Given the description of an element on the screen output the (x, y) to click on. 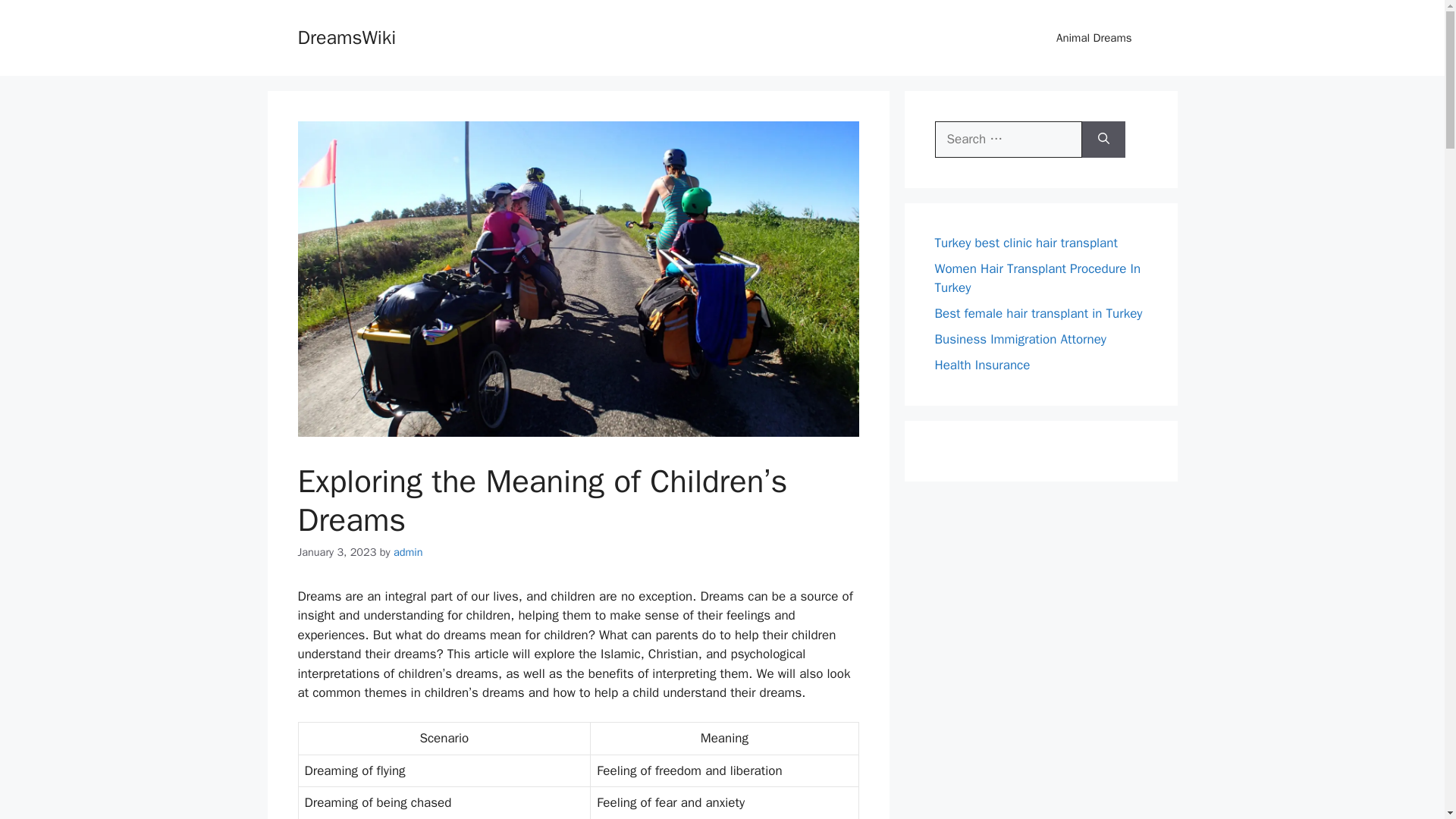
Business Immigration Attorney (1019, 339)
Animal Dreams (1094, 37)
Health Insurance (981, 365)
Women Hair Transplant Procedure In Turkey (1037, 278)
DreamsWiki (346, 37)
View all posts by admin (408, 551)
Search for: (1007, 139)
Best female hair transplant in Turkey (1037, 313)
admin (408, 551)
Turkey best clinic hair transplant (1025, 242)
